Given the description of an element on the screen output the (x, y) to click on. 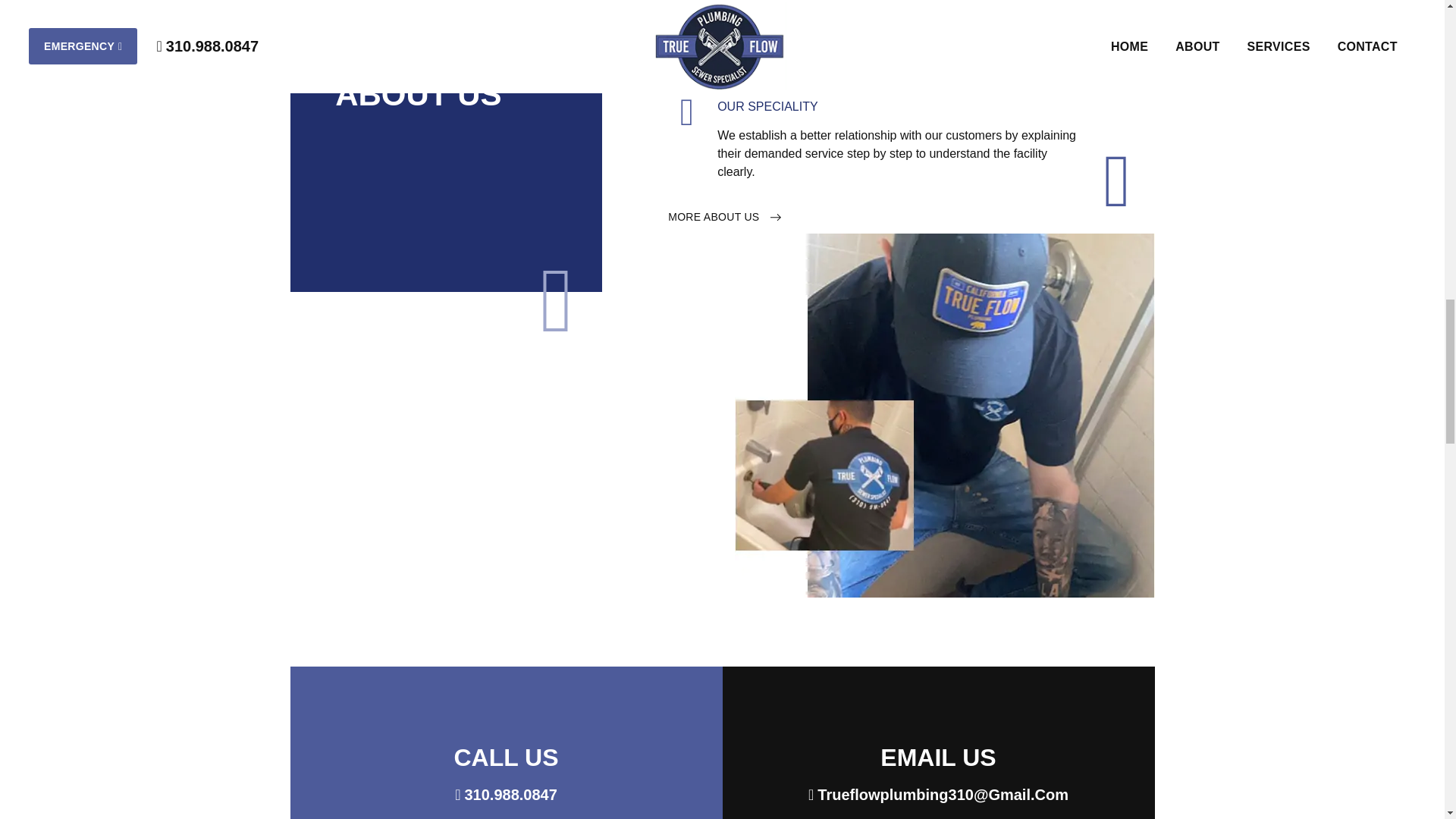
310.988.0847 (505, 794)
MORE ABOUT US (724, 216)
